Given the description of an element on the screen output the (x, y) to click on. 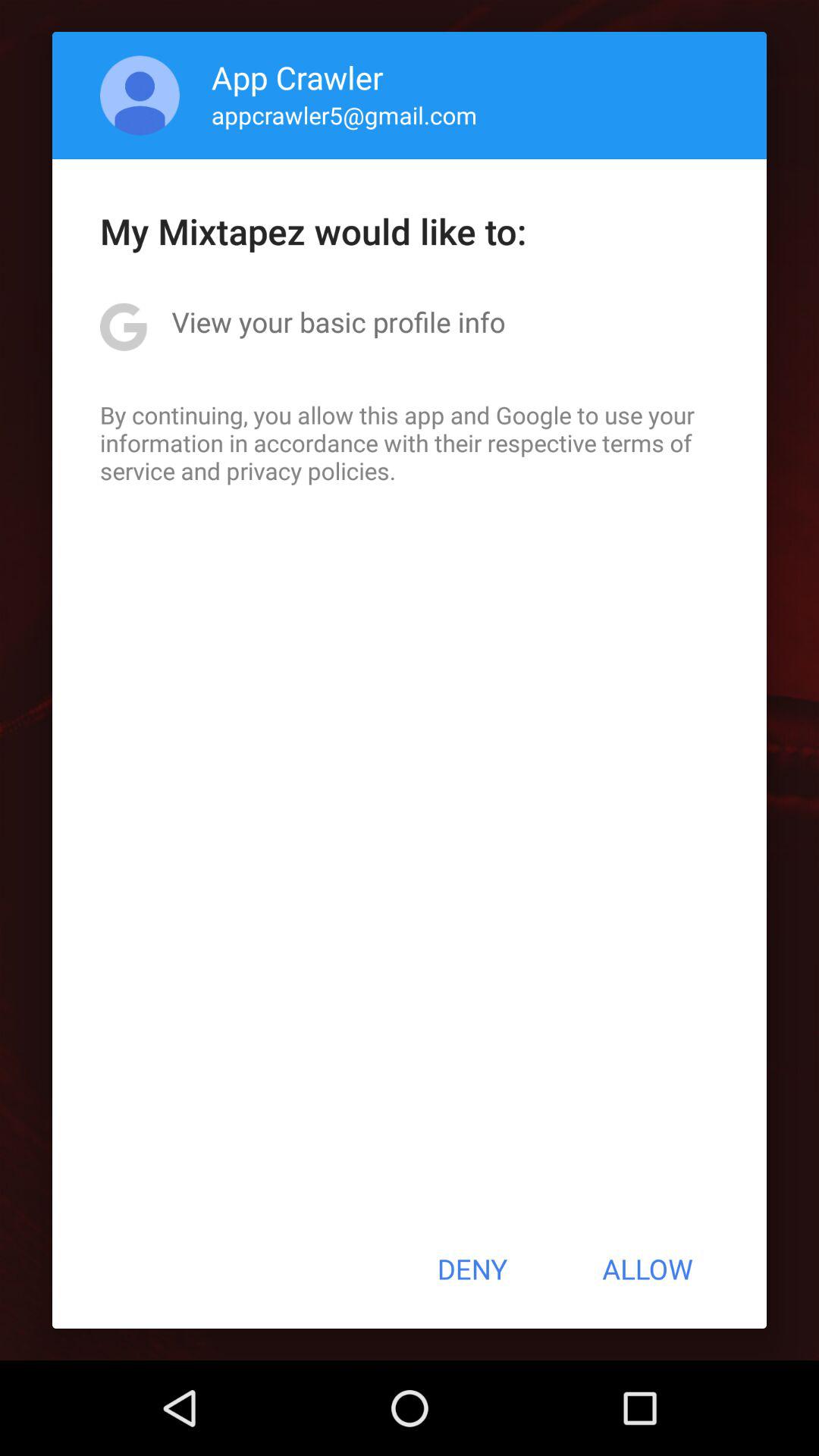
jump to the view your basic icon (338, 321)
